Given the description of an element on the screen output the (x, y) to click on. 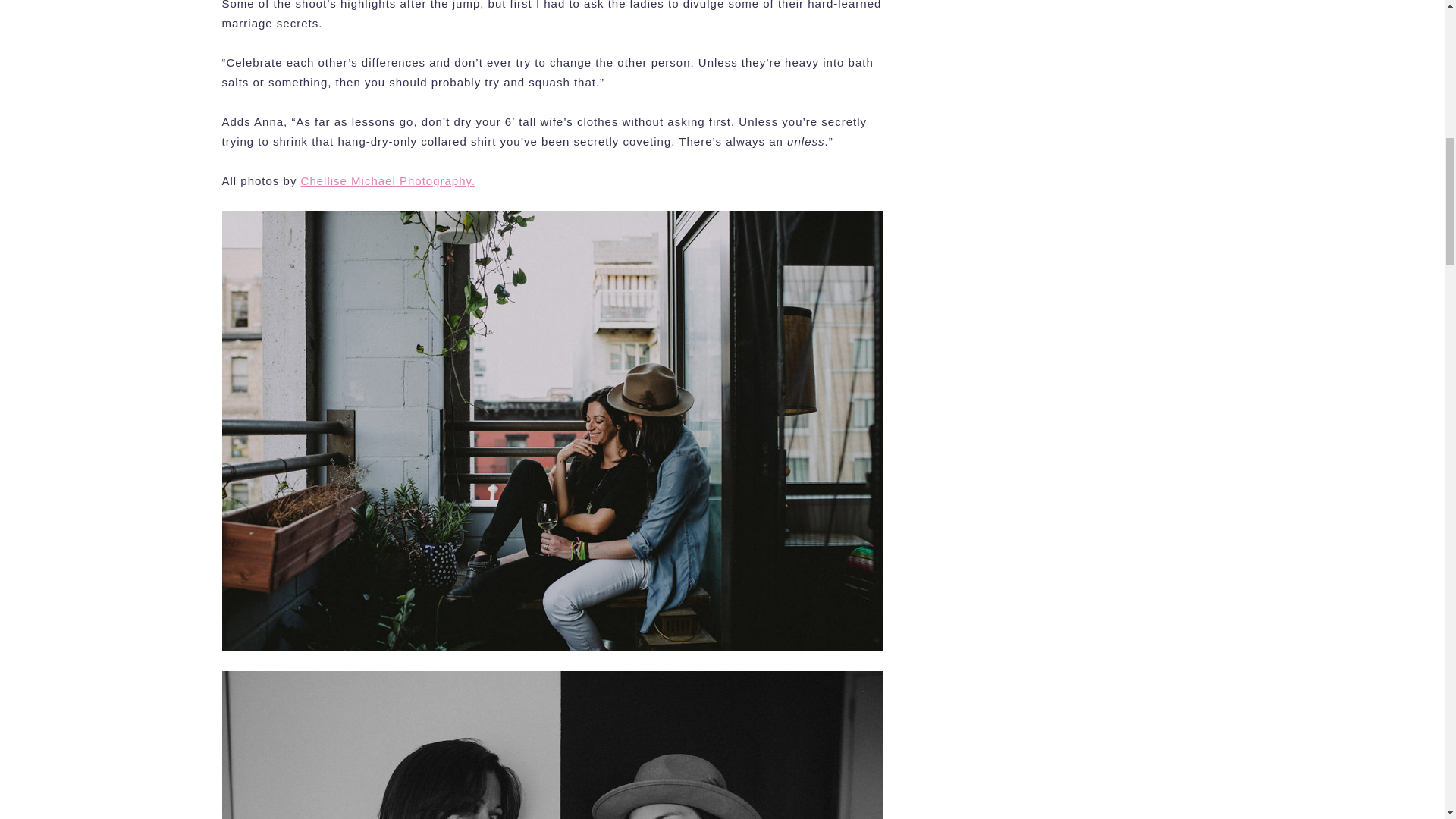
Chellise Michael Photography. (388, 180)
